Given the description of an element on the screen output the (x, y) to click on. 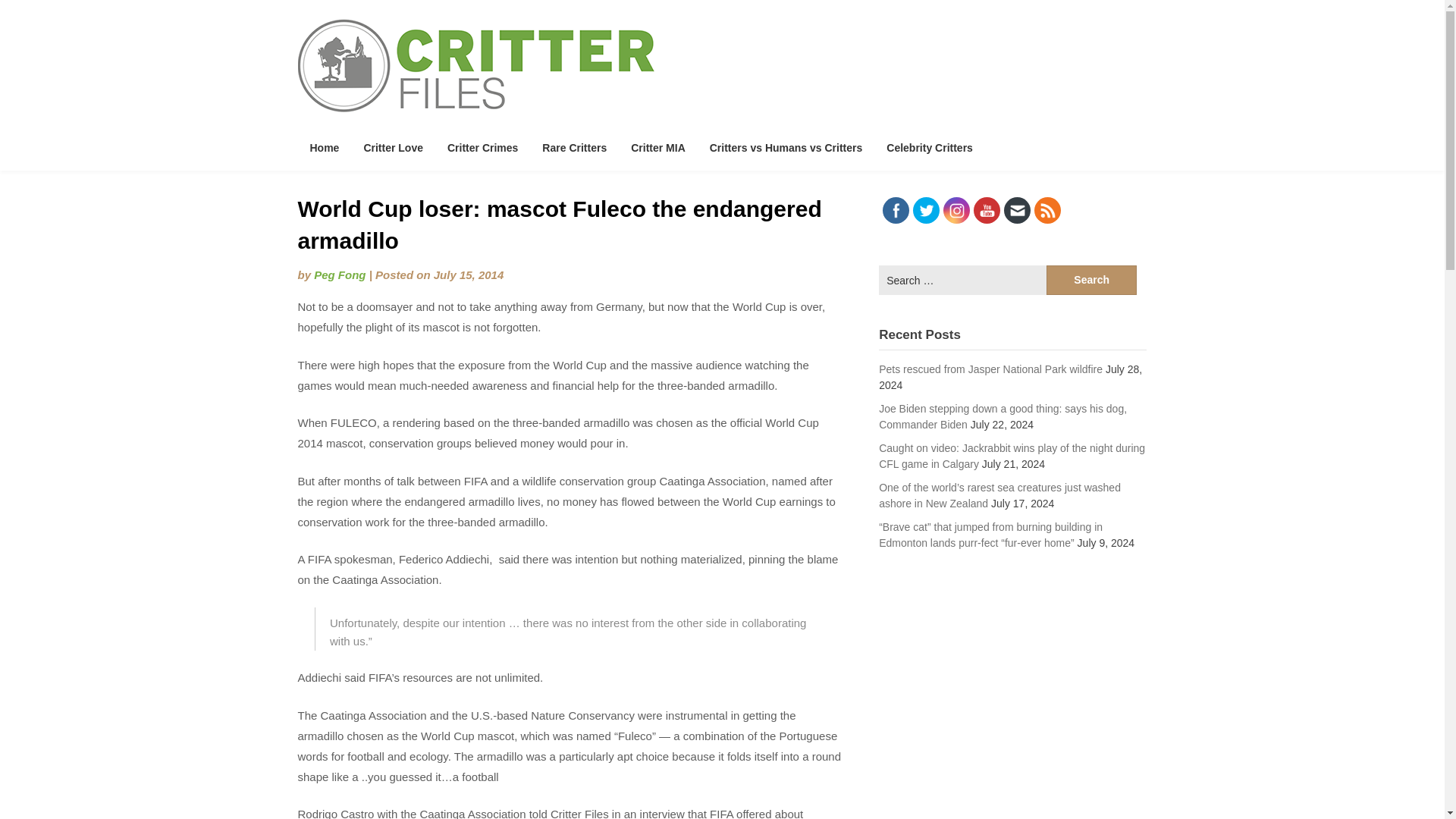
Critters vs Humans vs Critters (786, 147)
YouTube (986, 210)
Follow by Email (1017, 210)
Twitter (925, 210)
RSS (1047, 210)
Search (1091, 279)
Rare Critters (573, 147)
Celebrity Critters (930, 147)
Critter MIA (657, 147)
Critter Crimes (482, 147)
Home (323, 147)
July 15, 2014 (468, 274)
Critter Love (392, 147)
Facebook (895, 210)
Instagram (956, 210)
